Given the description of an element on the screen output the (x, y) to click on. 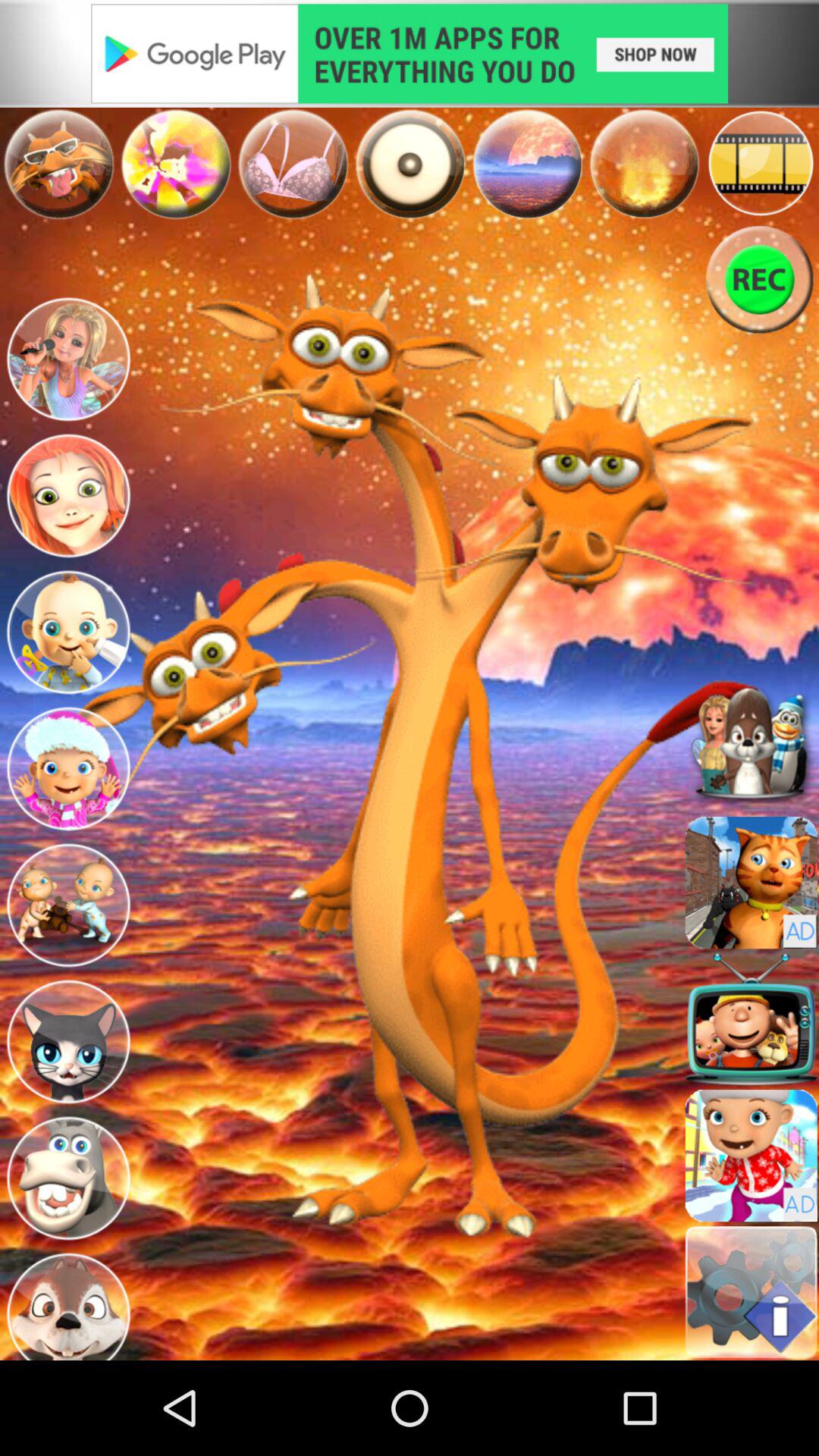
select character type (68, 1178)
